Given the description of an element on the screen output the (x, y) to click on. 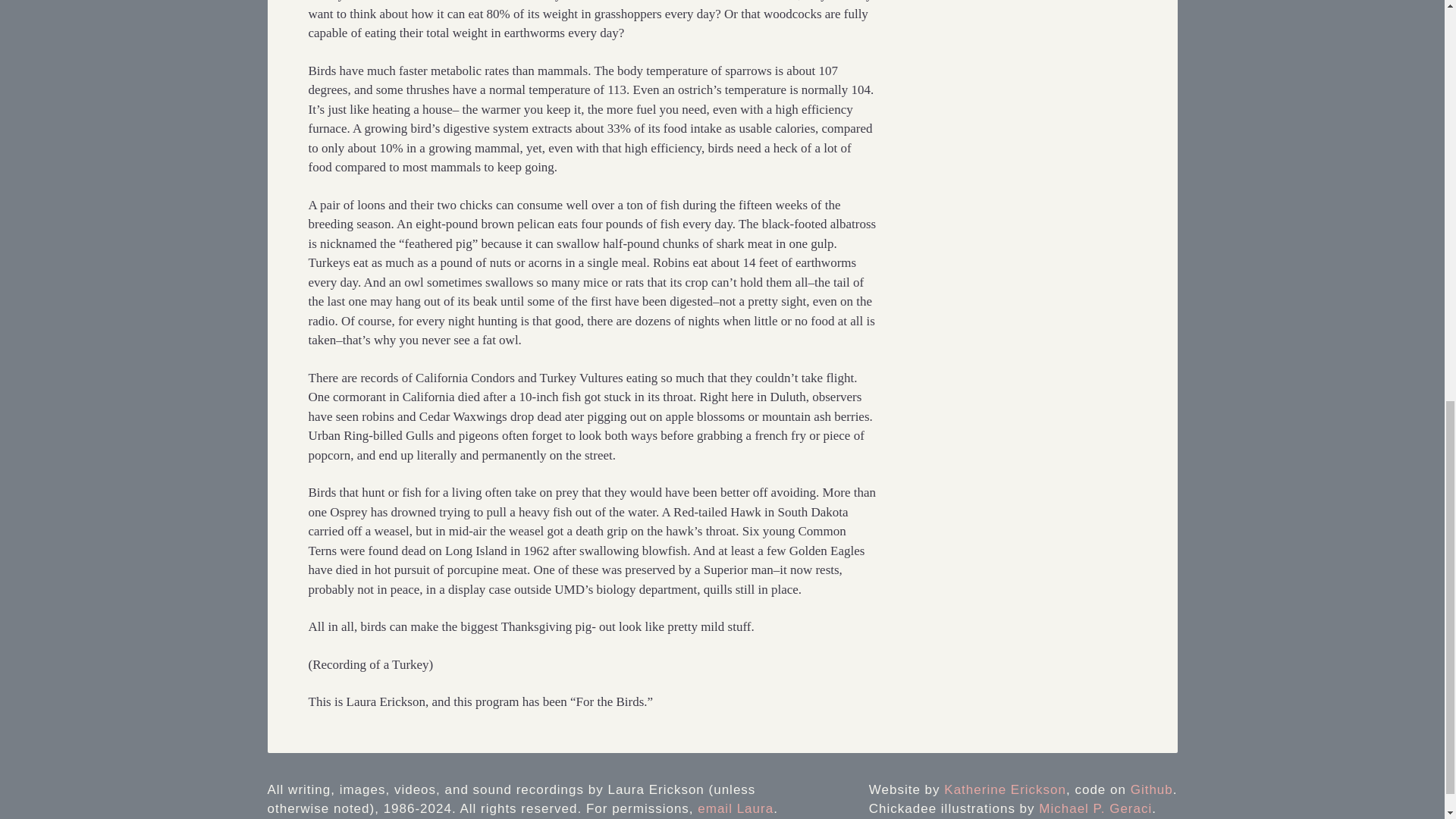
Github (1152, 789)
Katherine Erickson (1004, 789)
Michael P. Geraci (1095, 808)
email Laura (735, 808)
